Given the description of an element on the screen output the (x, y) to click on. 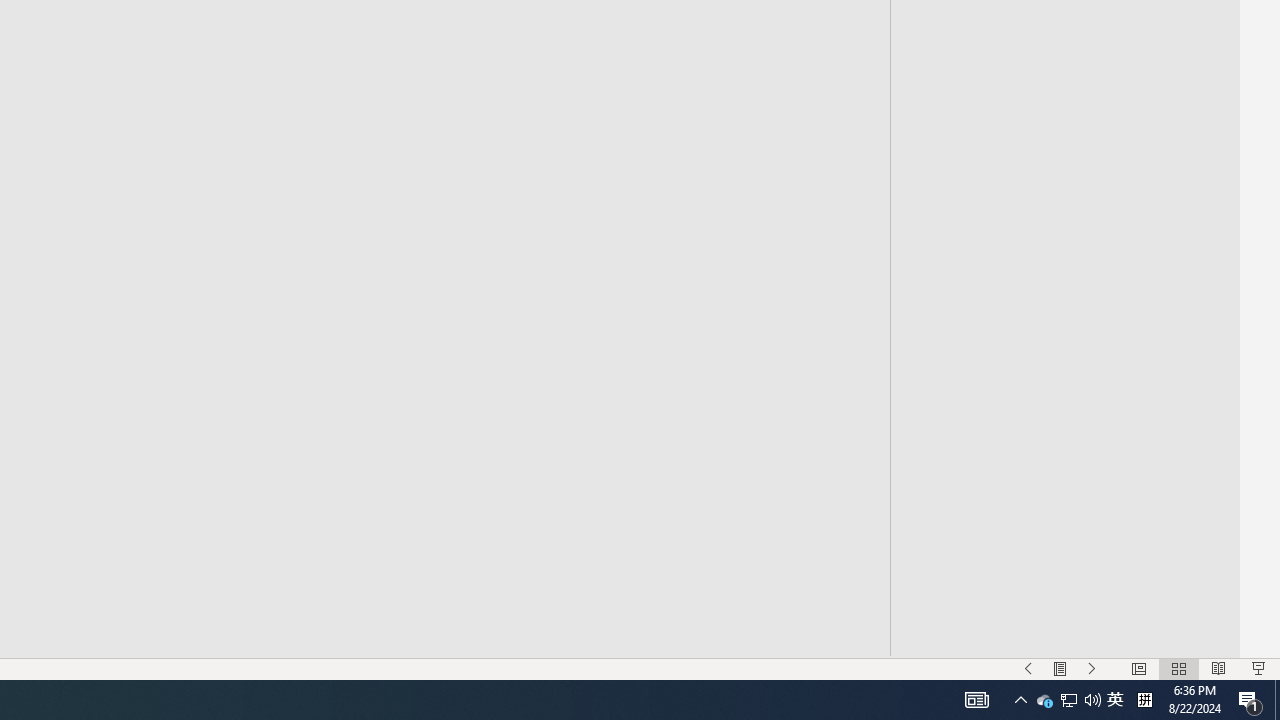
Slide Show Next On (1092, 668)
Slide Show Previous On (1028, 668)
Menu On (1060, 668)
